Given the description of an element on the screen output the (x, y) to click on. 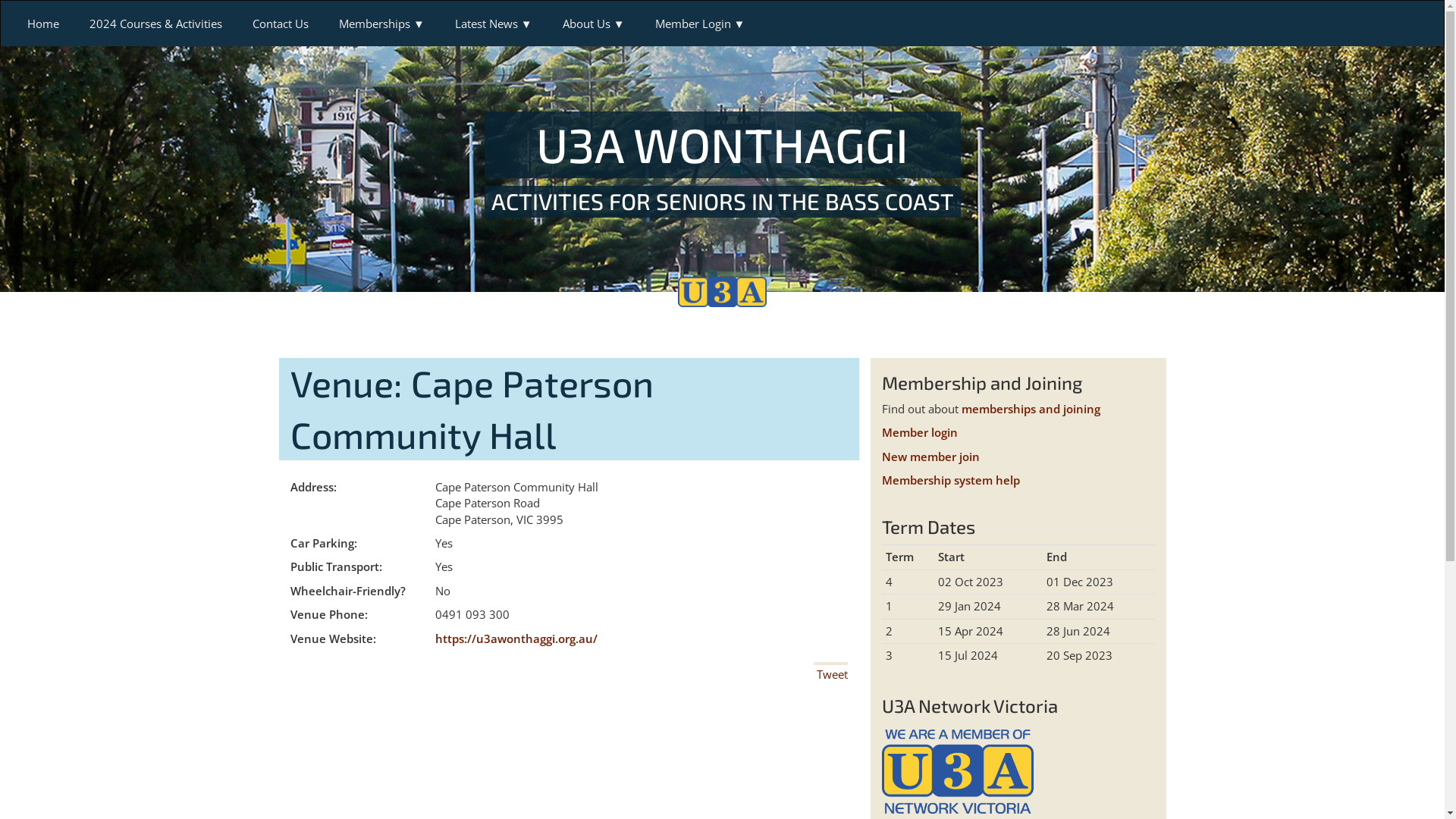
memberships and joining Element type: text (1030, 408)
Member login Element type: text (919, 431)
About Us Element type: text (593, 23)
Home Element type: text (43, 23)
Membership system help Element type: text (950, 479)
https://u3awonthaggi.org.au/ Element type: text (516, 638)
Member Login Element type: text (700, 23)
U3A WONTHAGGI
ACTIVITIES FOR SENIORS IN THE BASS COAST Element type: text (721, 163)
2024 Courses & Activities Element type: text (155, 23)
Memberships Element type: text (381, 23)
New member join Element type: text (930, 456)
Latest News Element type: text (493, 23)
Tweet Element type: text (831, 673)
Contact Us Element type: text (280, 23)
